Given the description of an element on the screen output the (x, y) to click on. 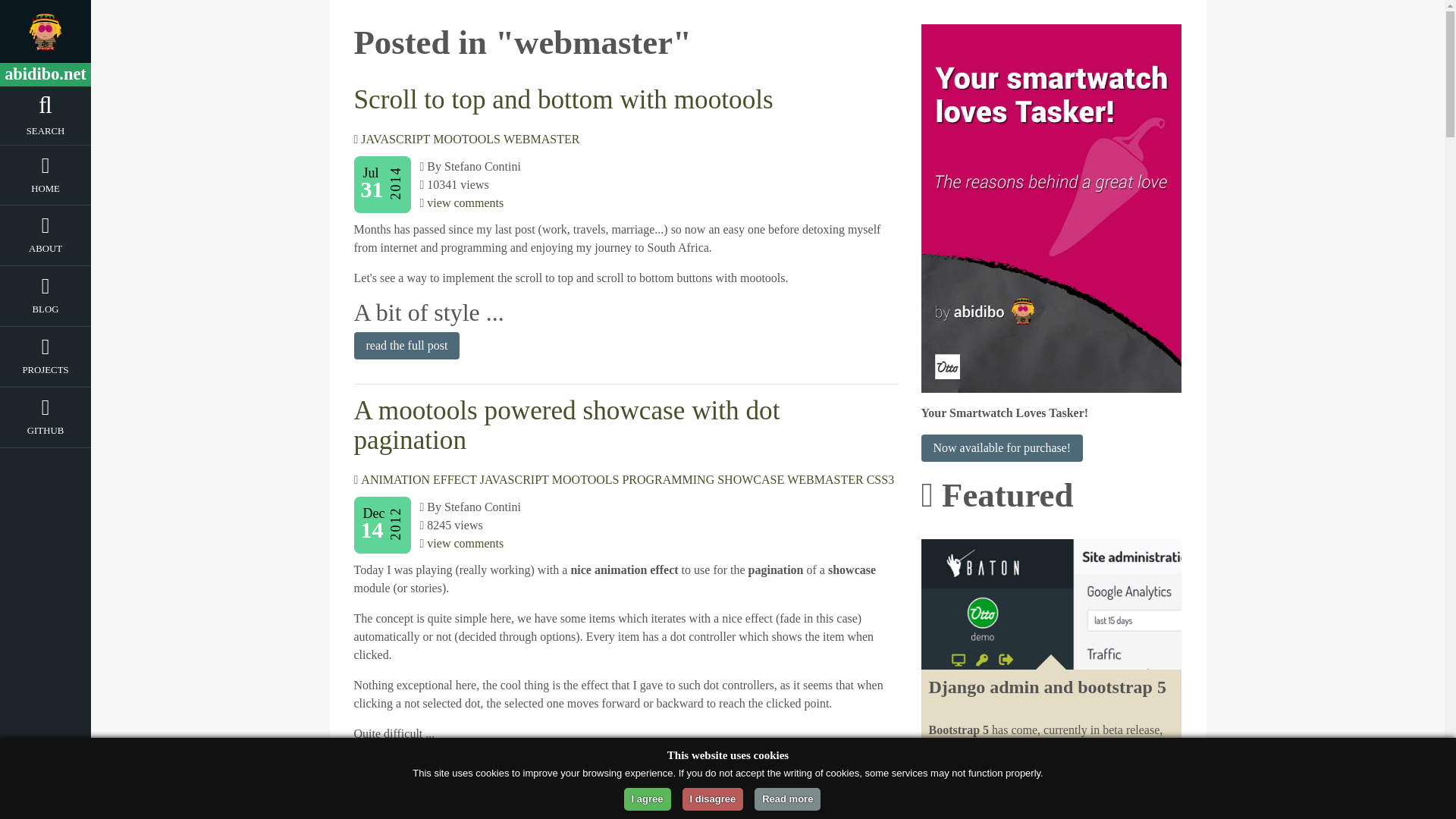
WEBMASTER (825, 479)
Projects (45, 373)
SHOWCASE (750, 479)
WEBMASTER (541, 138)
A mootools powered showcase with dot pagination (565, 425)
JAVASCRIPT (514, 479)
Github (45, 433)
Scroll to top and bottom with mootools (563, 99)
CSS3 (879, 479)
HOME (45, 191)
PROGRAMMING (667, 479)
Blog (45, 312)
GITHUB (45, 433)
read the full post (406, 768)
Home (45, 191)
